Given the description of an element on the screen output the (x, y) to click on. 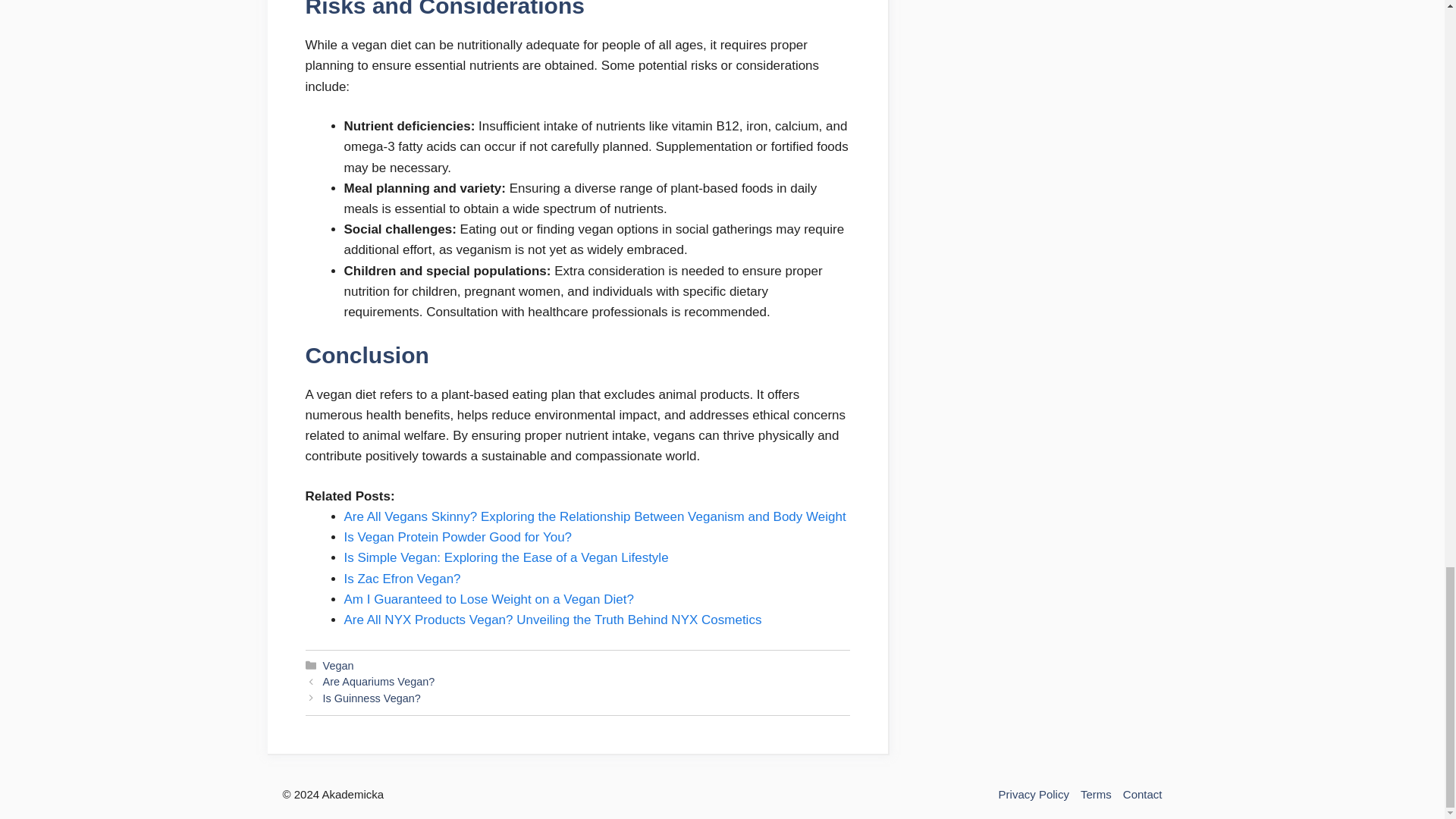
Are Aquariums Vegan? (379, 681)
Is Zac Efron Vegan? (402, 578)
Vegan (338, 665)
Is Vegan Protein Powder Good for You? (457, 536)
Is Guinness Vegan? (371, 698)
Is Simple Vegan: Exploring the Ease of a Vegan Lifestyle (505, 557)
Am I Guaranteed to Lose Weight on a Vegan Diet? (488, 599)
